Given the description of an element on the screen output the (x, y) to click on. 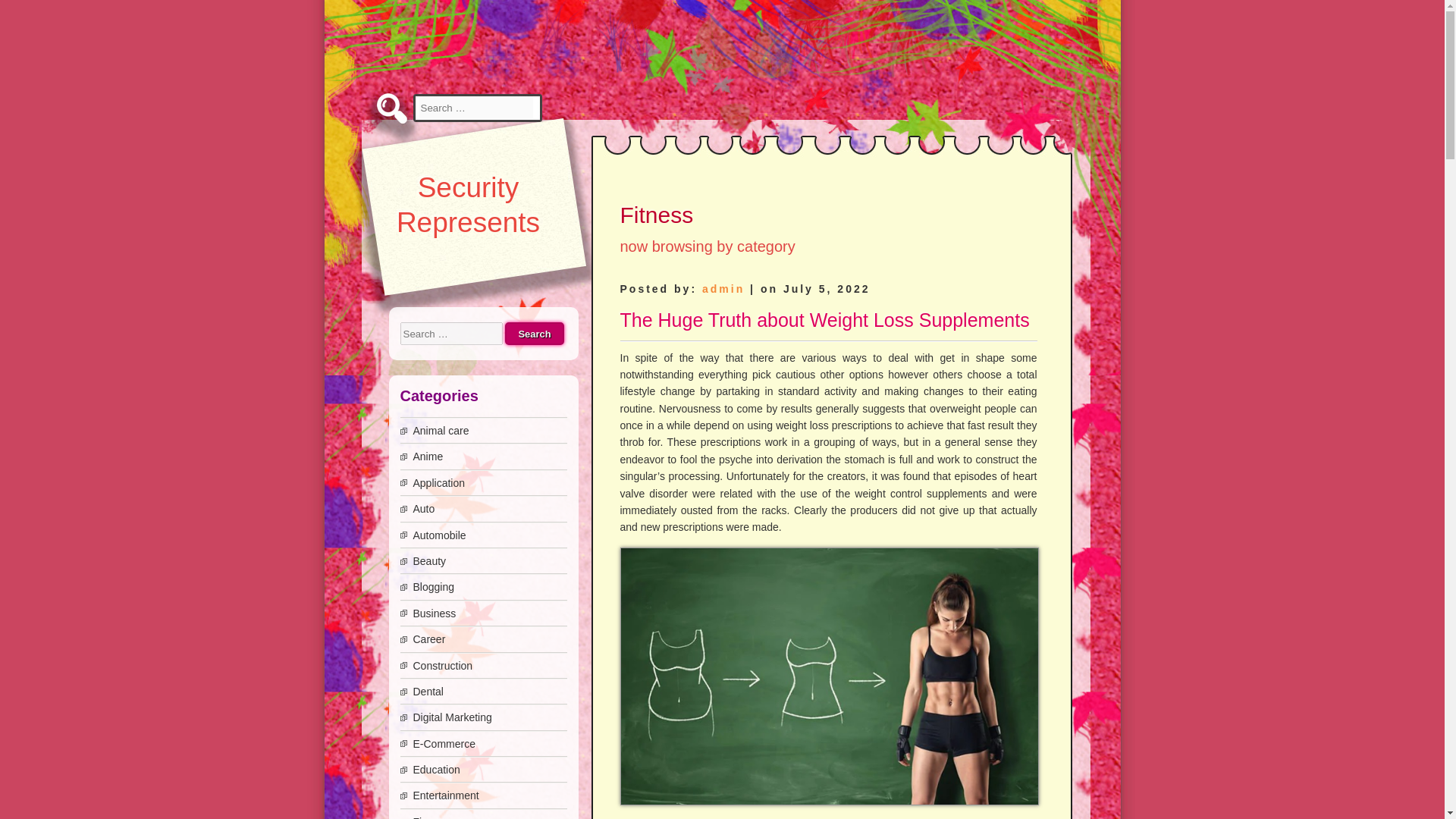
Career (428, 639)
Blogging (433, 586)
Anime (427, 456)
Finance (430, 817)
Education (436, 769)
Automobile (438, 535)
Posts by admin (722, 288)
Search (534, 333)
Application (438, 482)
Search (534, 333)
